Given the description of an element on the screen output the (x, y) to click on. 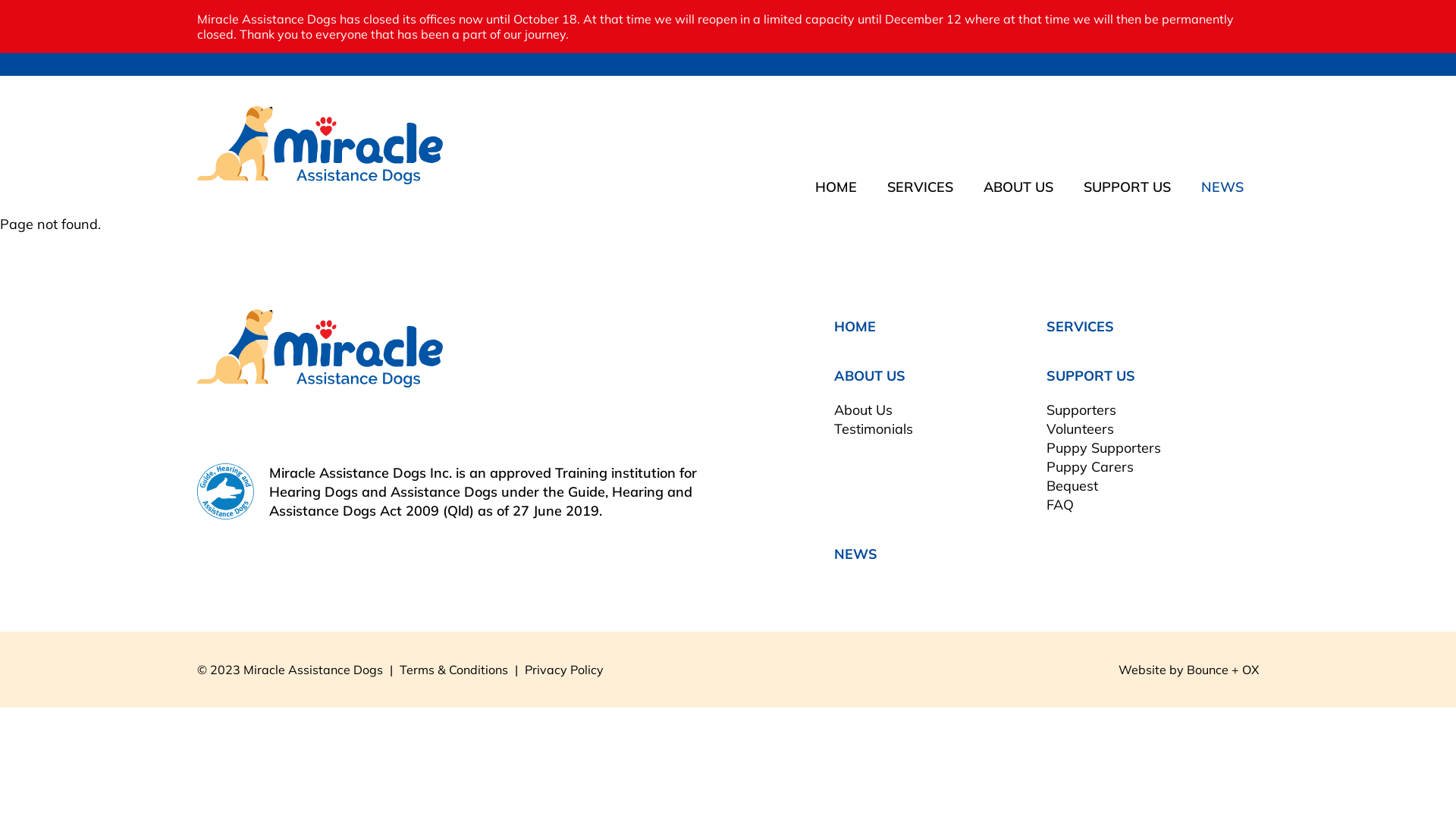
Testimonials Element type: text (873, 428)
Miracle Assistance Dogs Element type: hover (319, 145)
FAQ Element type: text (1059, 504)
HOME Element type: text (836, 186)
SERVICES Element type: text (1079, 326)
Privacy Policy Element type: text (563, 669)
Website by Bounce Element type: text (1173, 669)
Supporters Element type: text (1081, 409)
SUPPORT US Element type: text (1127, 186)
Skip to content Element type: text (0, 0)
NEWS Element type: text (1222, 186)
About Us Element type: text (863, 409)
NEWS Element type: text (855, 553)
Puppy Supporters Element type: text (1103, 447)
Bequest Element type: text (1072, 485)
SERVICES Element type: text (920, 186)
Miracle Assistance Dogs Element type: hover (454, 348)
OX Element type: text (1250, 669)
HOME Element type: text (854, 326)
ABOUT US Element type: text (869, 375)
Volunteers Element type: text (1079, 428)
Puppy Carers Element type: text (1089, 466)
Terms & Conditions Element type: text (453, 669)
ABOUT US Element type: text (1018, 186)
SUPPORT US Element type: text (1090, 375)
